Given the description of an element on the screen output the (x, y) to click on. 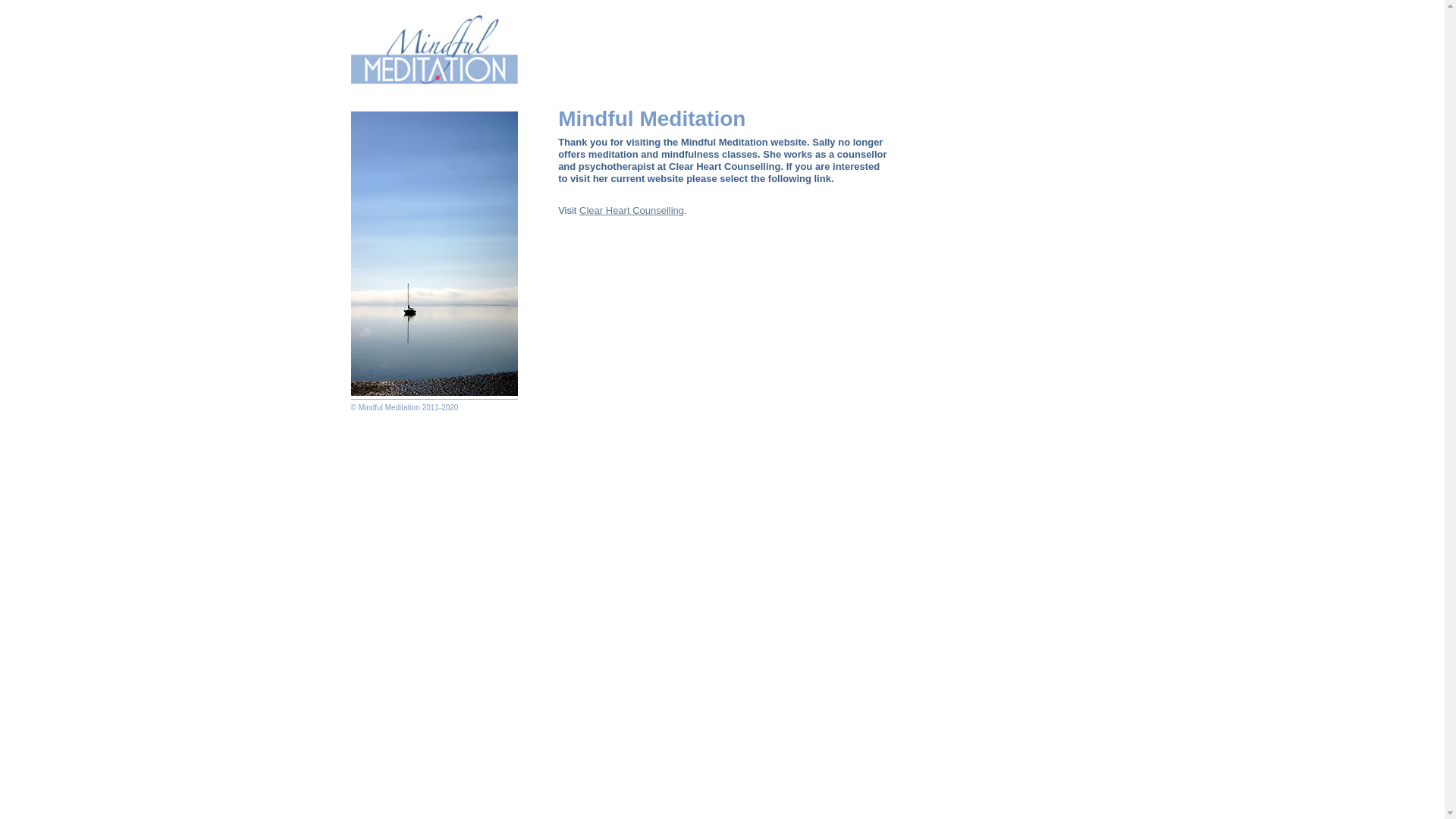
Clear Heart Counselling Element type: text (631, 210)
